Given the description of an element on the screen output the (x, y) to click on. 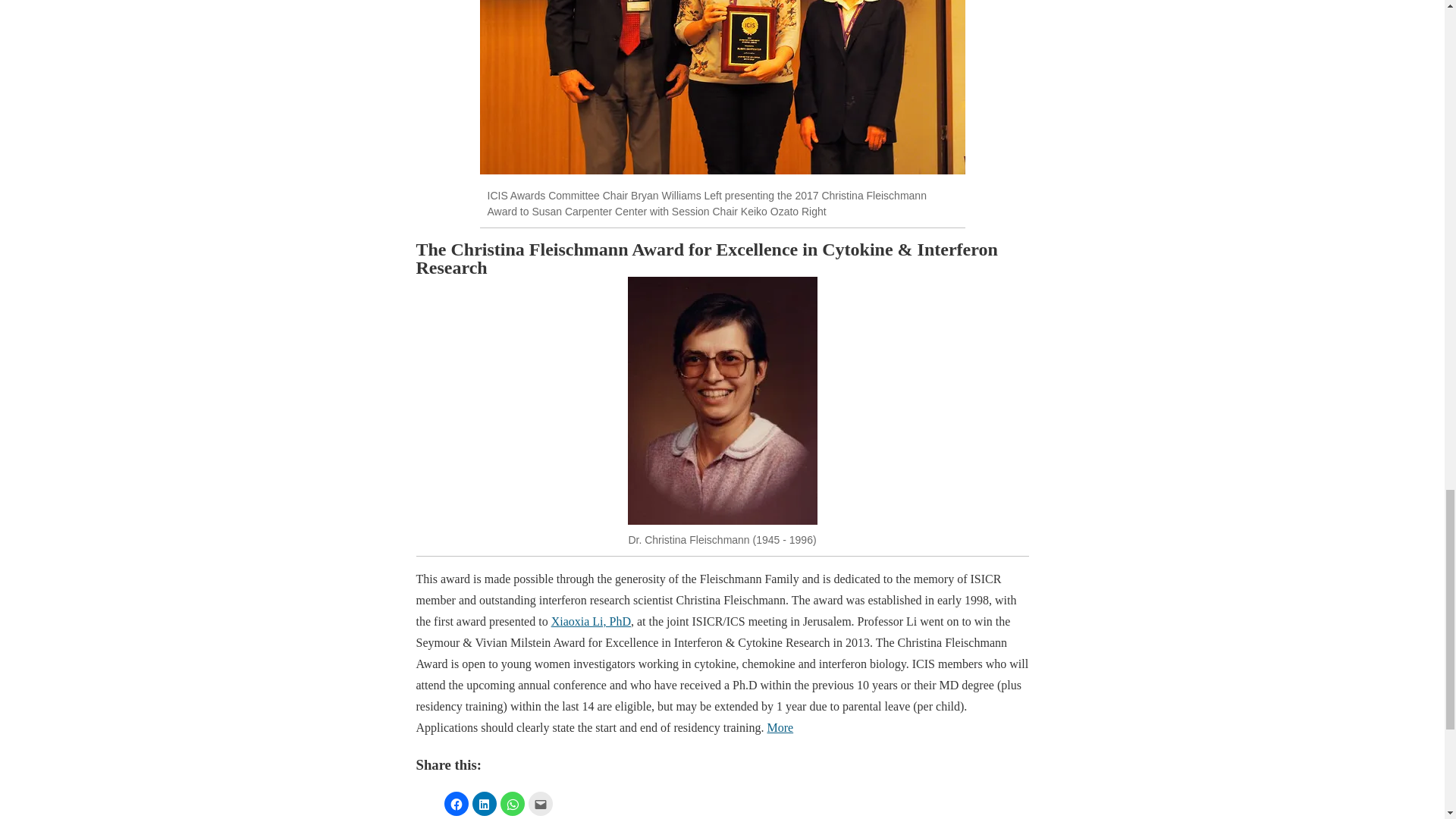
Click to share on Facebook (456, 803)
Click to share on LinkedIn (483, 803)
Click to share on WhatsApp (512, 803)
Click to share on X (426, 803)
Xiaoxia Li, PhD (590, 621)
Click to share on Email (539, 803)
More (780, 727)
